Given the description of an element on the screen output the (x, y) to click on. 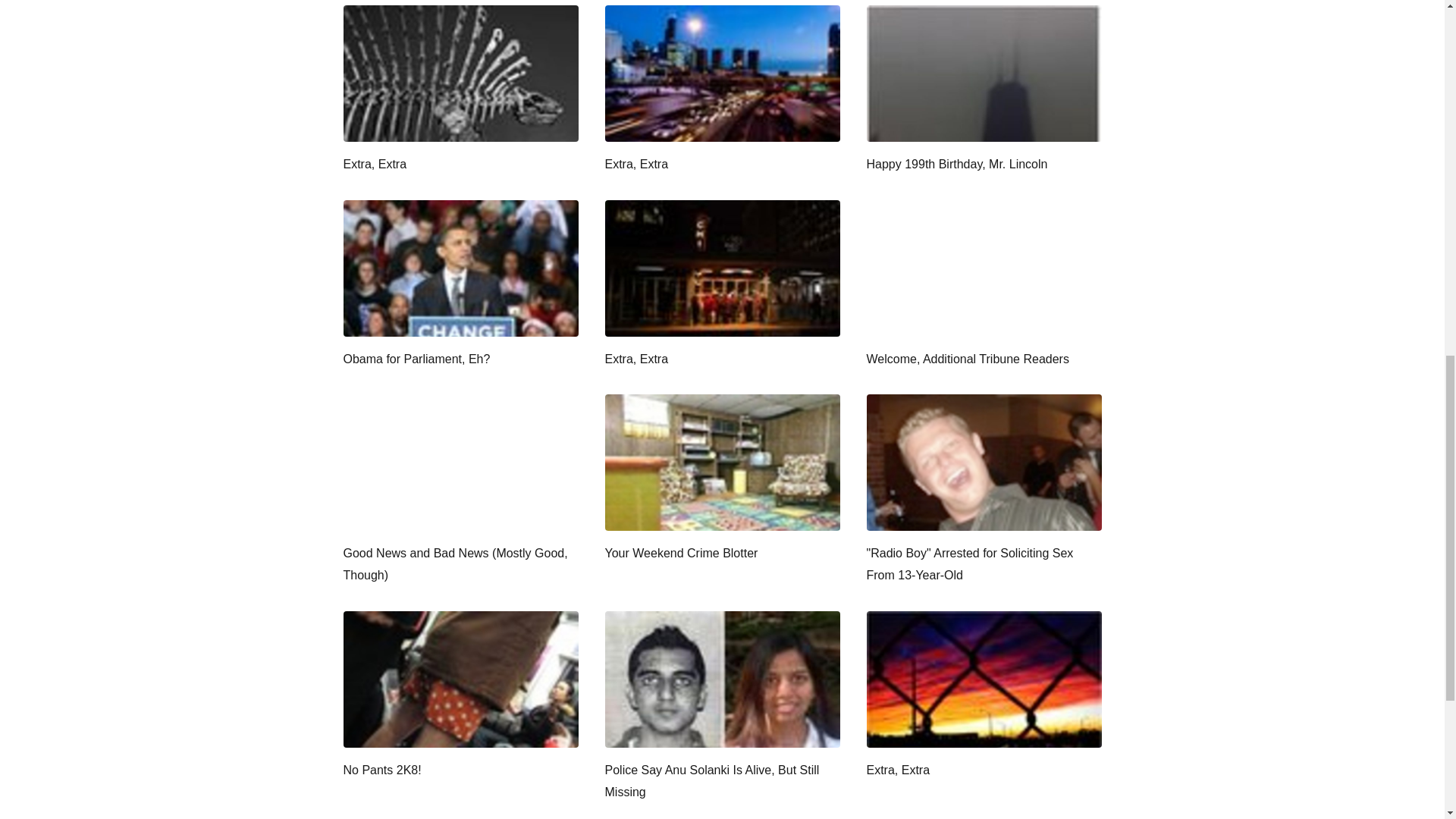
Extra, Extra (722, 285)
Extra, Extra (983, 696)
No Pants 2K8! (460, 696)
Extra, Extra (722, 90)
"Radio Boy" Arrested for Soliciting Sex From 13-Year-Old (983, 490)
Happy 199th Birthday, Mr. Lincoln (983, 90)
Welcome, Additional Tribune Readers (983, 285)
Obama for Parliament, Eh? (460, 285)
Your Weekend Crime Blotter (722, 479)
Police Say Anu Solanki Is Alive, But Still Missing (722, 706)
Extra, Extra (460, 90)
